Given the description of an element on the screen output the (x, y) to click on. 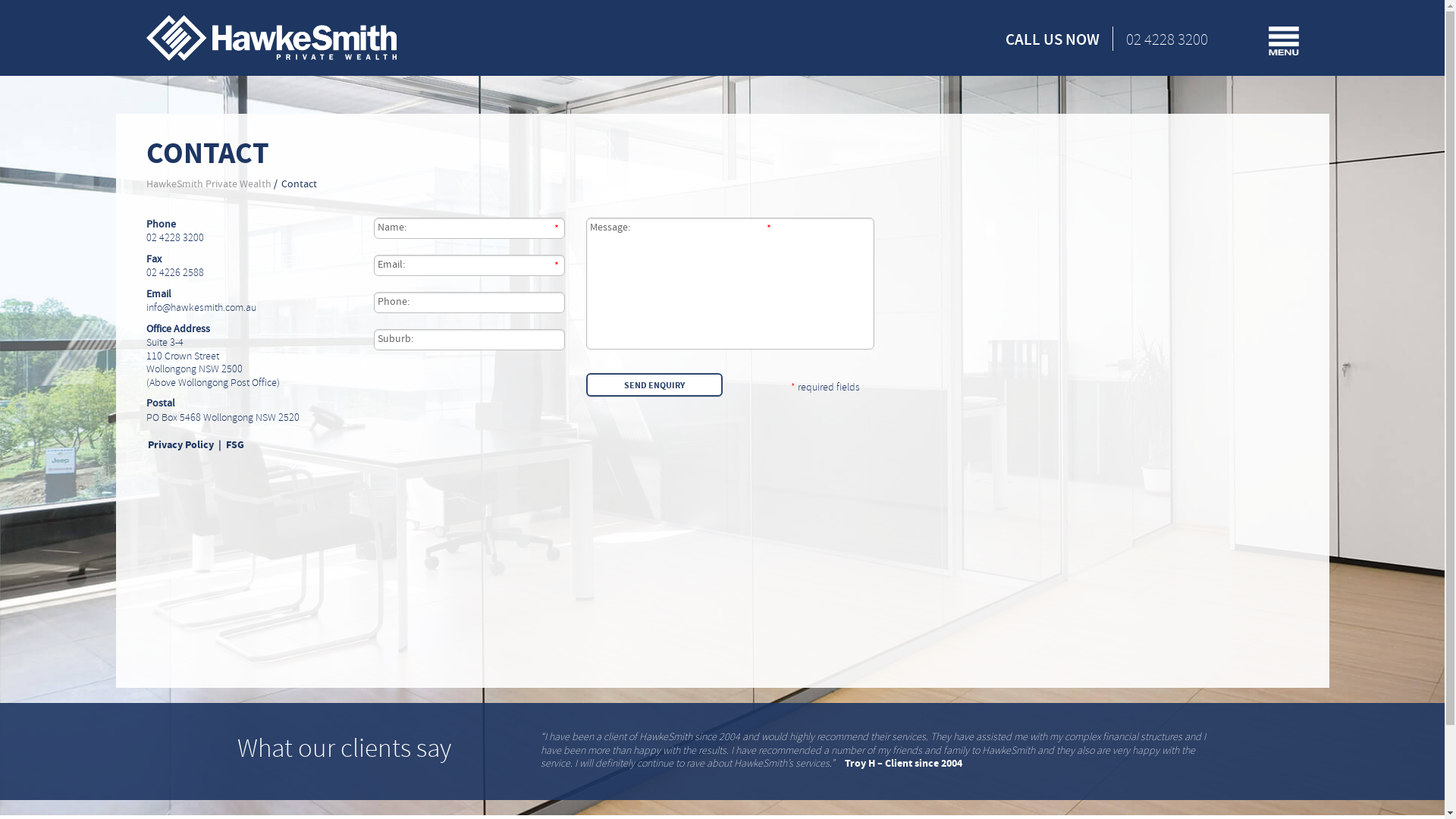
Send Enquiry Element type: text (653, 384)
HawkeSmith Private Wealth Element type: text (207, 184)
Privacy Policy Element type: text (180, 444)
FSG Element type: text (234, 444)
Hawke Smith Private Wealth Element type: hover (270, 37)
info@hawkesmith.com.au Element type: text (200, 307)
